Given the description of an element on the screen output the (x, y) to click on. 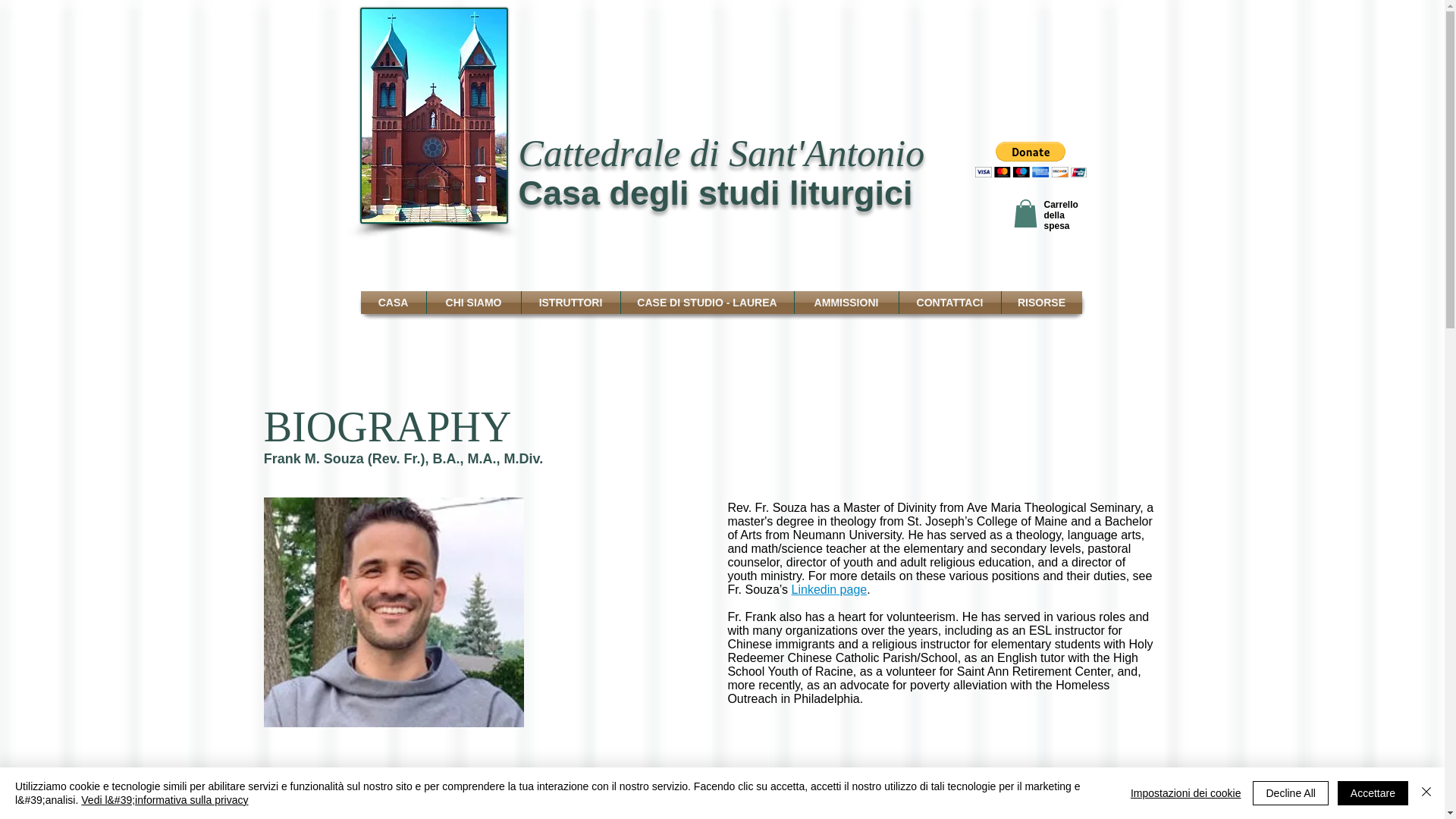
CONTATTACI (950, 302)
Decline All (1289, 793)
AMMISSIONI (846, 302)
Linkedin page (829, 589)
RISORSE (1041, 302)
CASA (393, 302)
CHI SIAMO (472, 302)
ISTRUTTORI (570, 302)
Accettare (1372, 793)
